Given the description of an element on the screen output the (x, y) to click on. 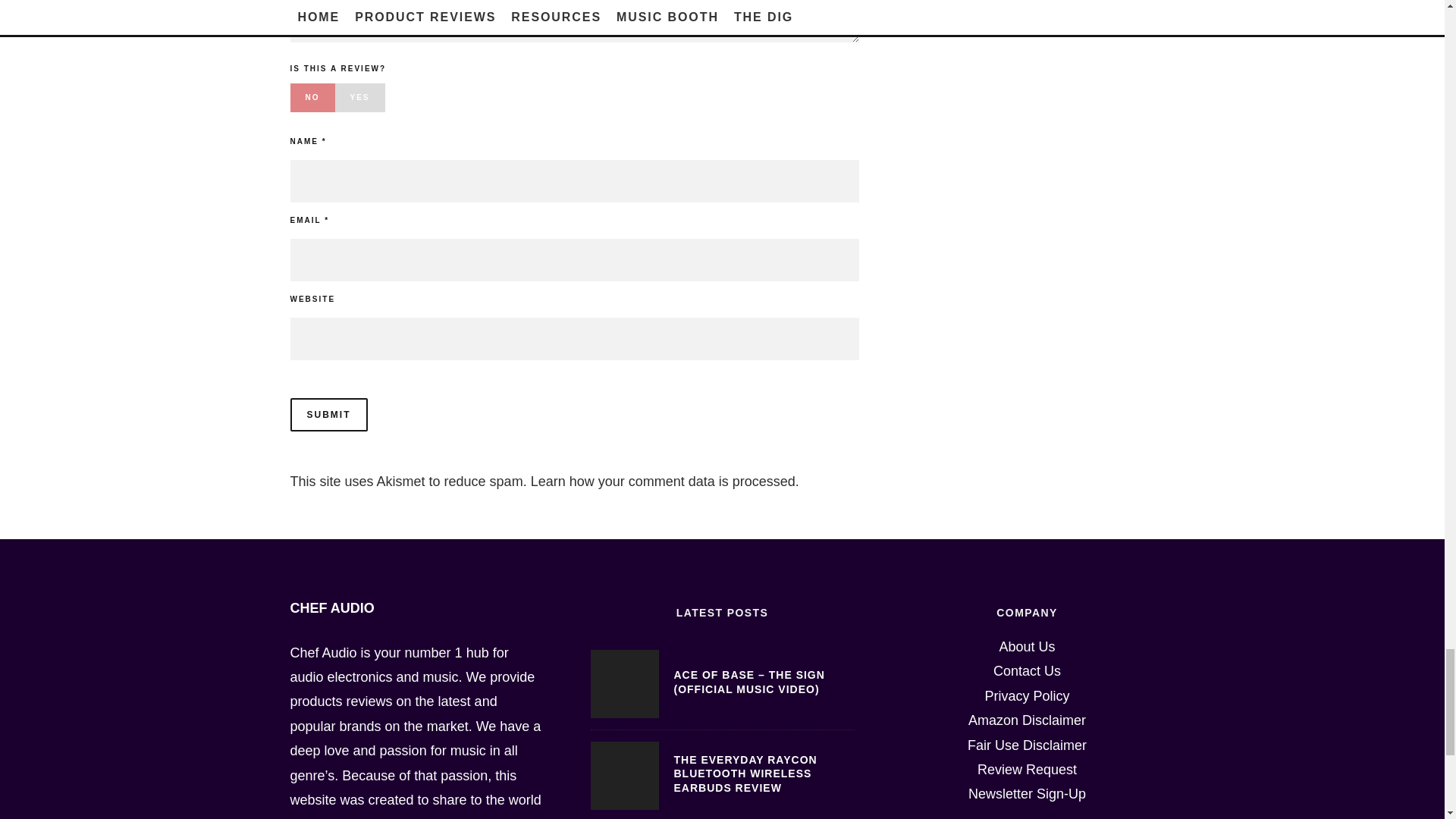
Submit (327, 414)
